Given the description of an element on the screen output the (x, y) to click on. 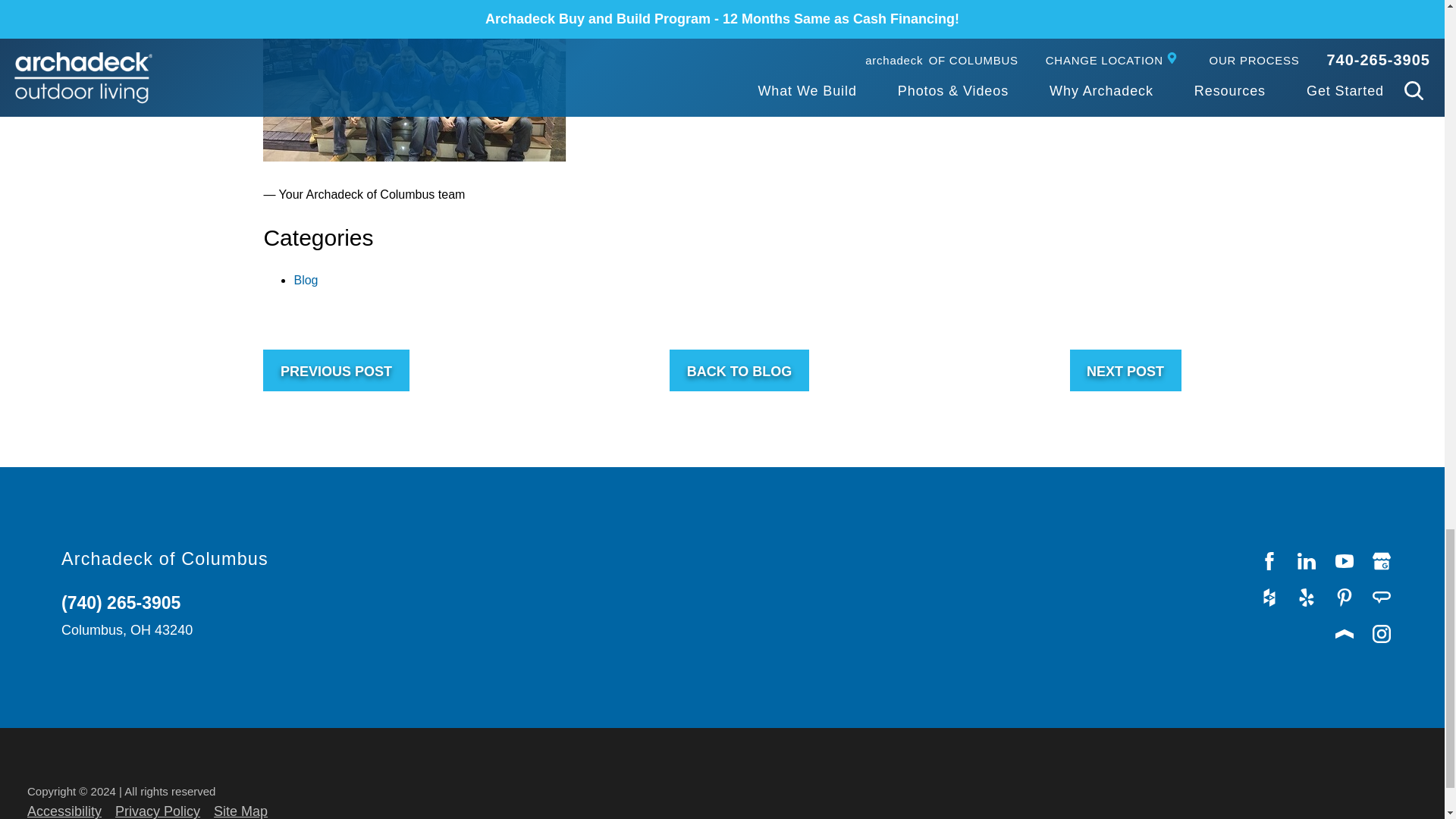
YouTube (1345, 560)
Houzz (1269, 597)
Instagram (1381, 633)
Pinterest (1345, 597)
LinkedIn (1307, 560)
Porch (1345, 633)
Angie's List (1381, 597)
Facebook (1269, 560)
Google My Business (1381, 560)
Yelp (1307, 597)
